Given the description of an element on the screen output the (x, y) to click on. 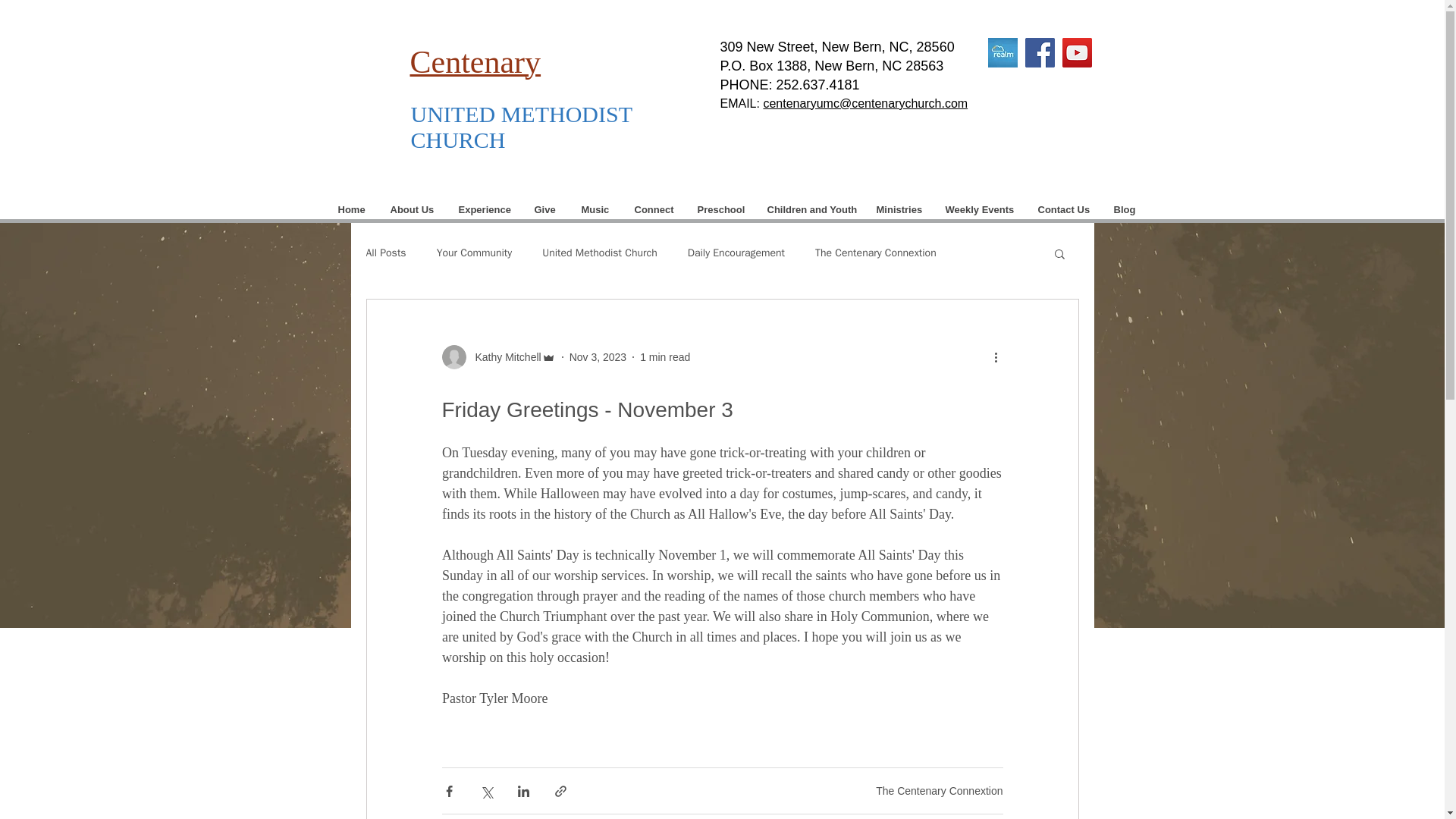
Give (545, 209)
Children and Youth (809, 209)
UNITED METHODIST CHURCH (520, 126)
Kathy Mitchell (502, 356)
Home (351, 209)
Nov 3, 2023 (598, 356)
Connect (652, 209)
Ministries (898, 209)
Centenary (474, 64)
1 min read (665, 356)
Preschool (720, 209)
Music (595, 209)
Experience (483, 209)
About Us (411, 209)
